Given the description of an element on the screen output the (x, y) to click on. 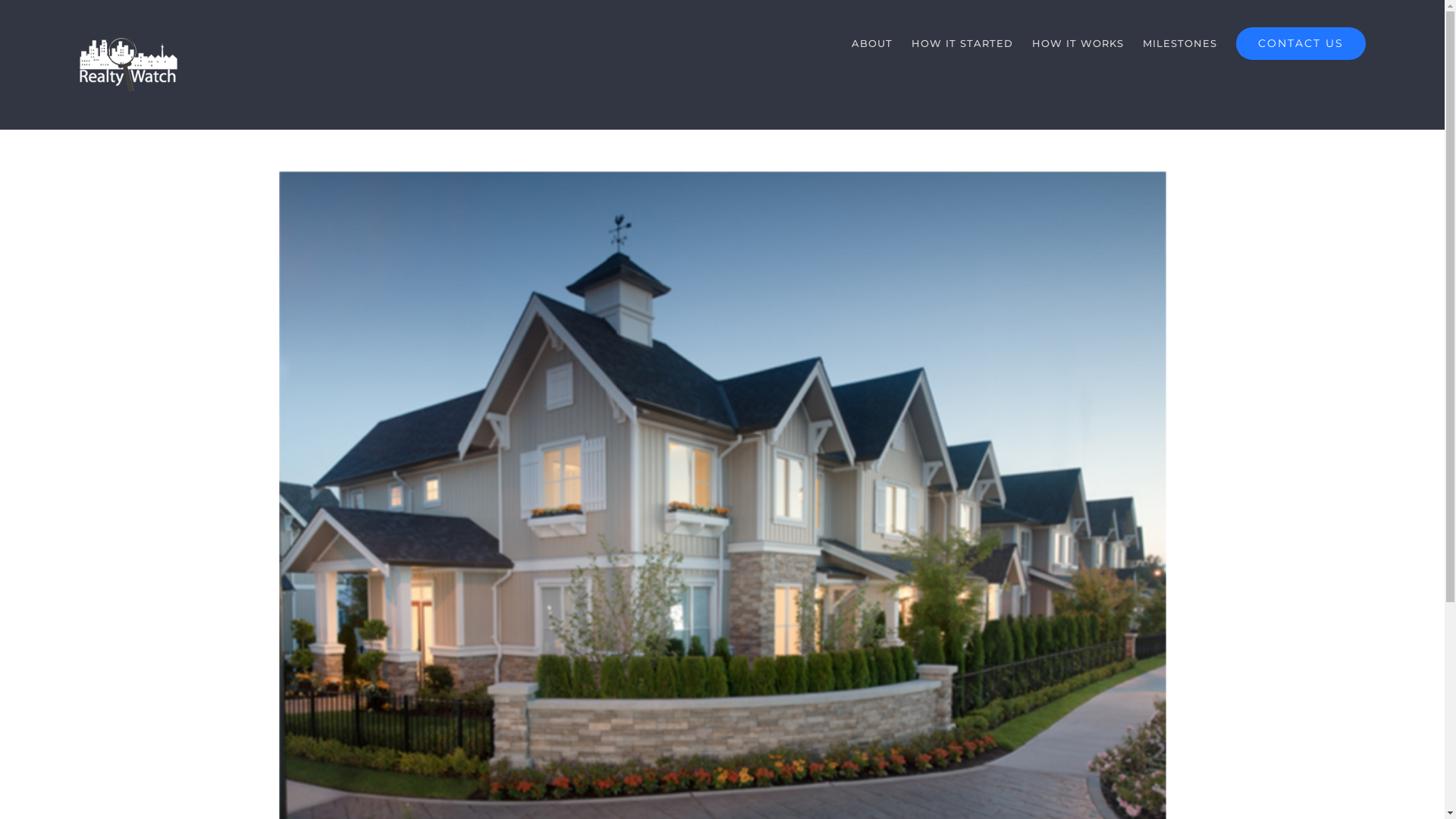
ABOUT Element type: text (871, 42)
HOW IT STARTED Element type: text (962, 42)
MILESTONES Element type: text (1179, 42)
HOW IT WORKS Element type: text (1077, 42)
CONTACT US Element type: text (1300, 42)
